Given the description of an element on the screen output the (x, y) to click on. 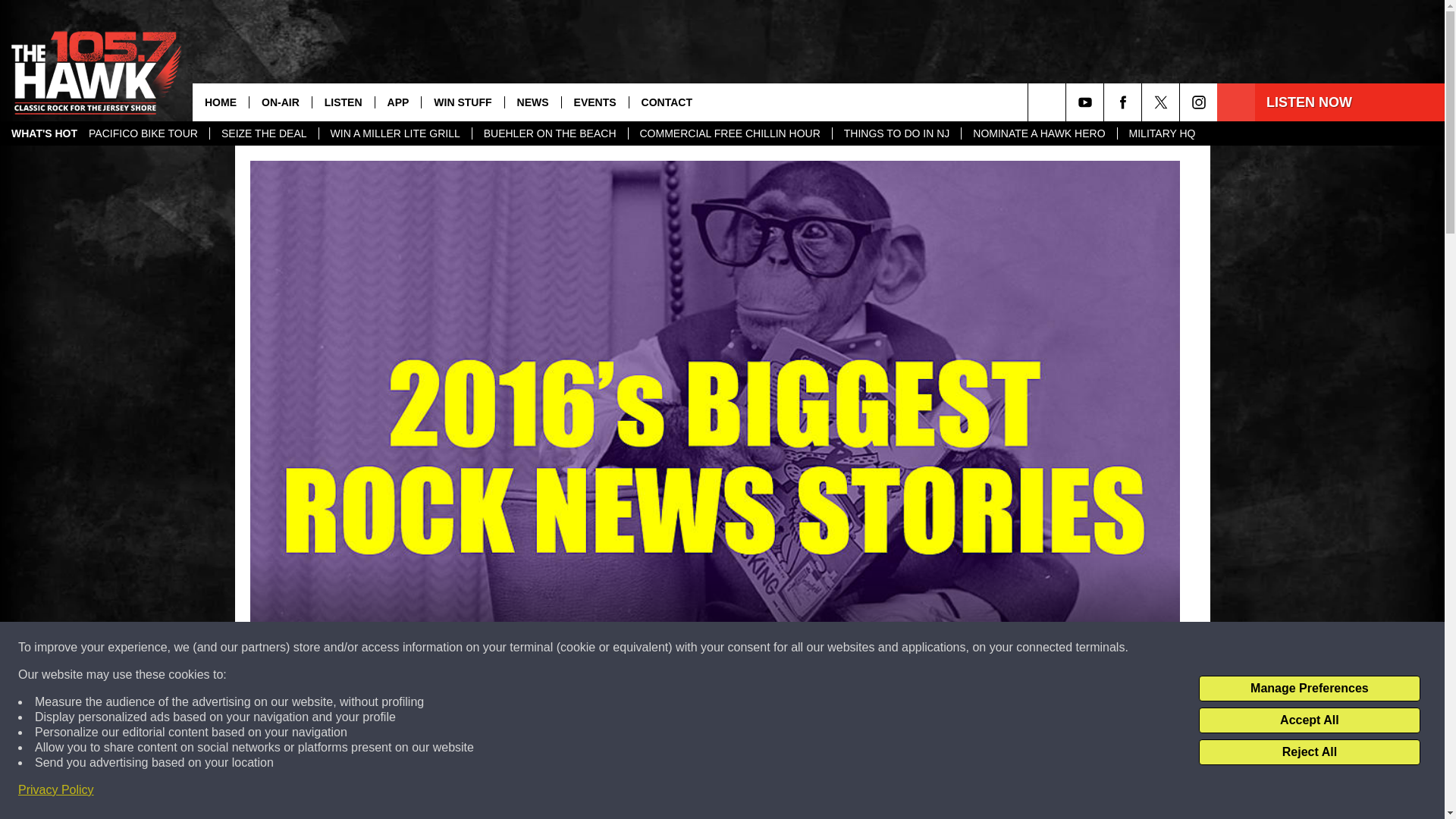
WIN STUFF (461, 102)
APP (398, 102)
WIN A MILLER LITE GRILL (394, 133)
PACIFICO BIKE TOUR (143, 133)
MILITARY HQ (1161, 133)
THINGS TO DO IN NJ (895, 133)
LISTEN (342, 102)
HOME (220, 102)
Privacy Policy (55, 789)
Share on Facebook (517, 791)
Accept All (1309, 720)
Manage Preferences (1309, 688)
NOMINATE A HAWK HERO (1038, 133)
Share on Twitter (912, 791)
COMMERCIAL FREE CHILLIN HOUR (729, 133)
